Given the description of an element on the screen output the (x, y) to click on. 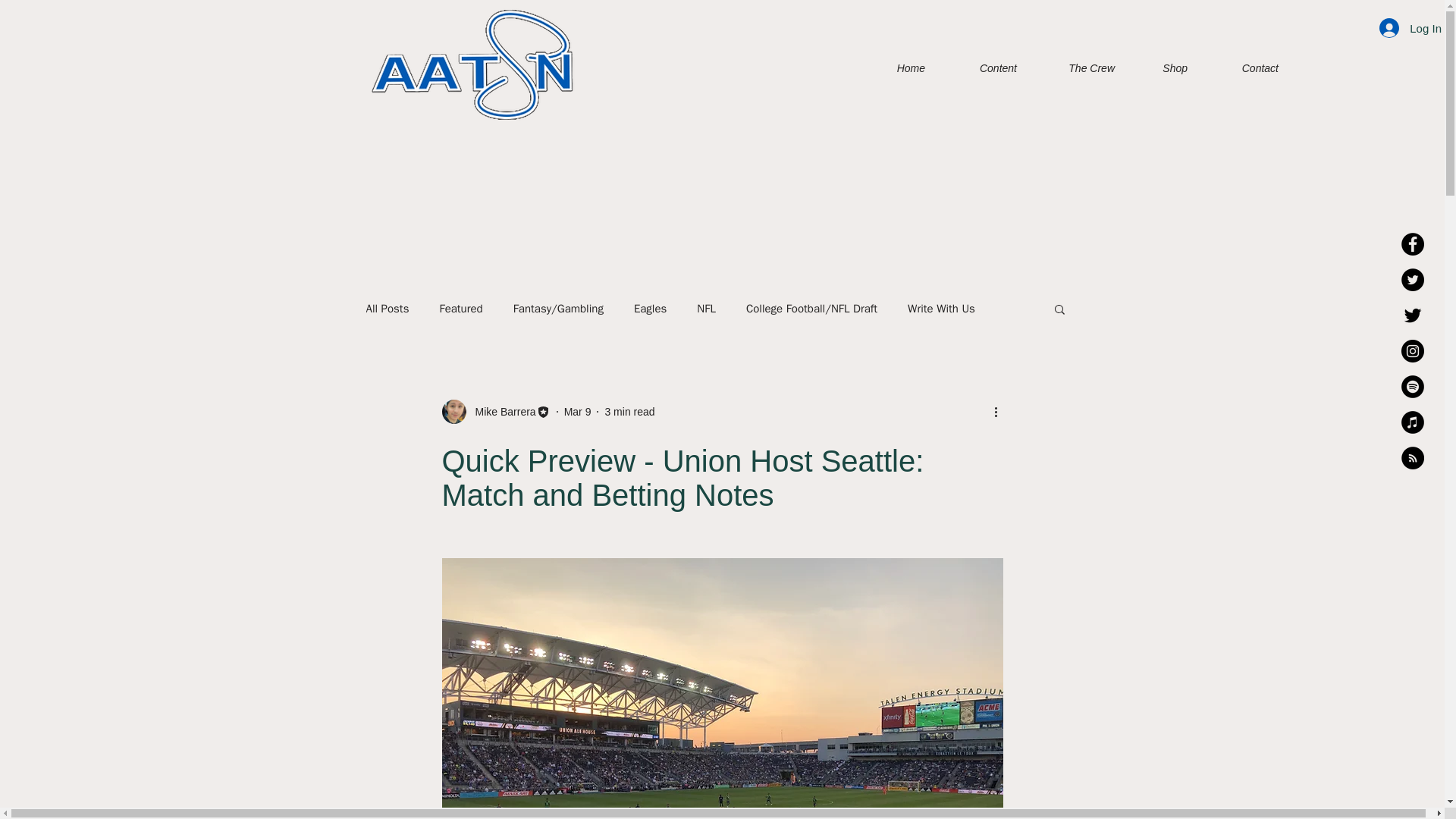
Mar 9 (577, 410)
Shop (1161, 67)
Write With Us (941, 309)
NFL (706, 309)
Contact (1244, 67)
All Posts (387, 309)
Mike Barrera (500, 411)
3 min read (628, 410)
Eagles (649, 309)
Mike Barrera (495, 411)
